Given the description of an element on the screen output the (x, y) to click on. 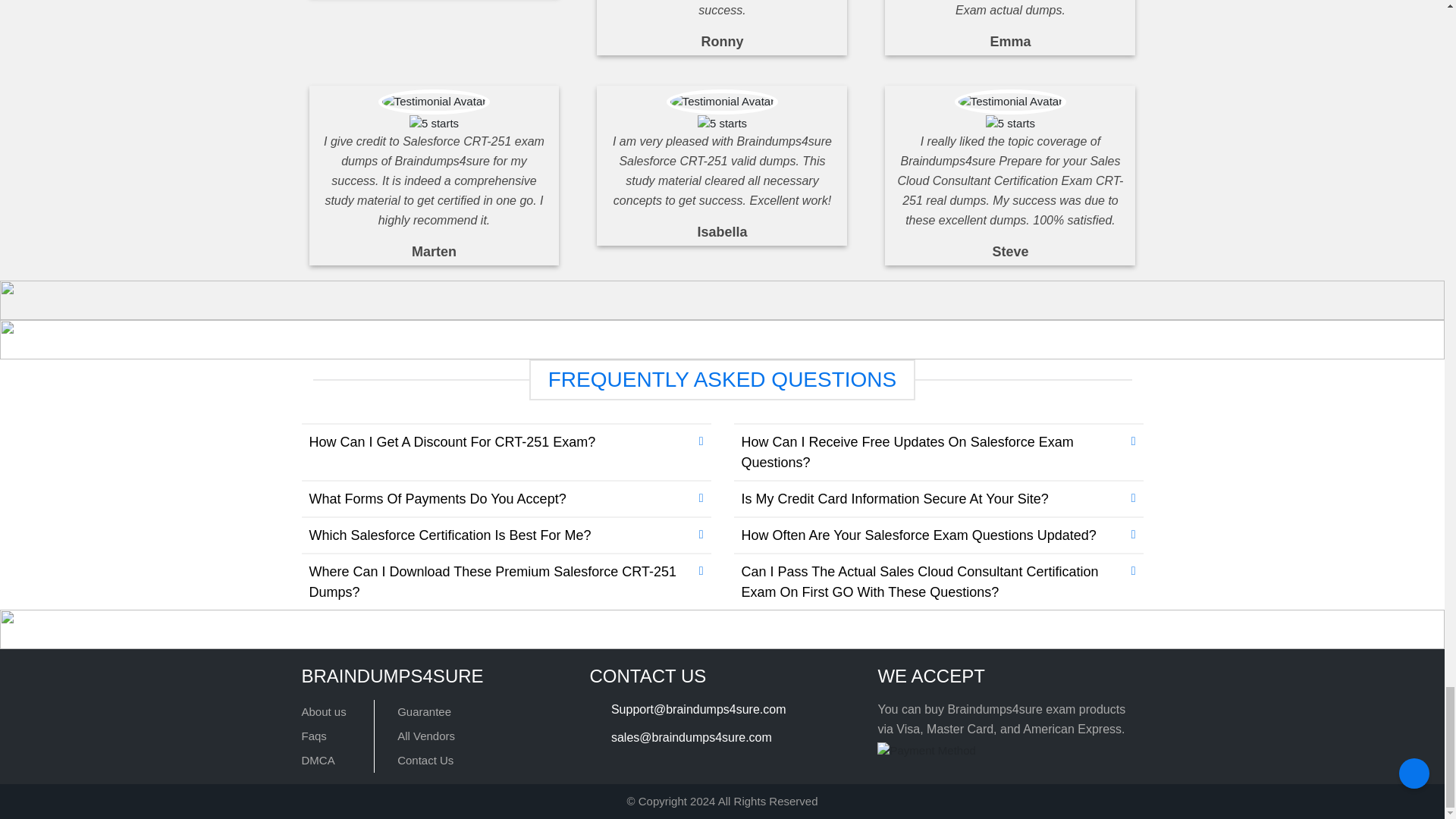
What Forms Of Payments Do You Accept? (506, 498)
How Can I Get A Discount For CRT-251 Exam? (506, 442)
How Can I Receive Free Updates On Salesforce Exam Questions? (937, 452)
